Given the description of an element on the screen output the (x, y) to click on. 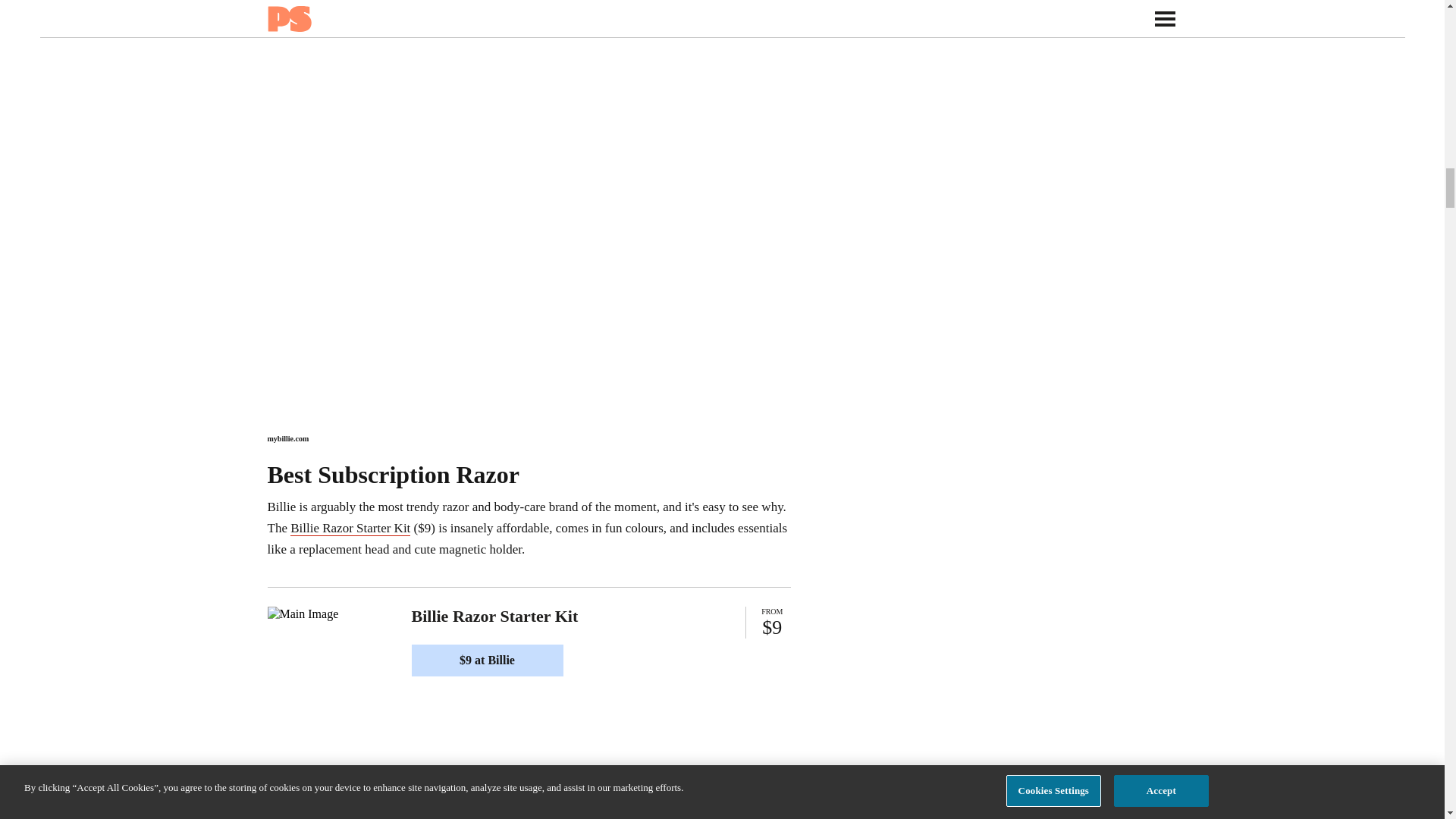
mybillie.com (287, 438)
Billie Razor Starter Kit (349, 528)
